Given the description of an element on the screen output the (x, y) to click on. 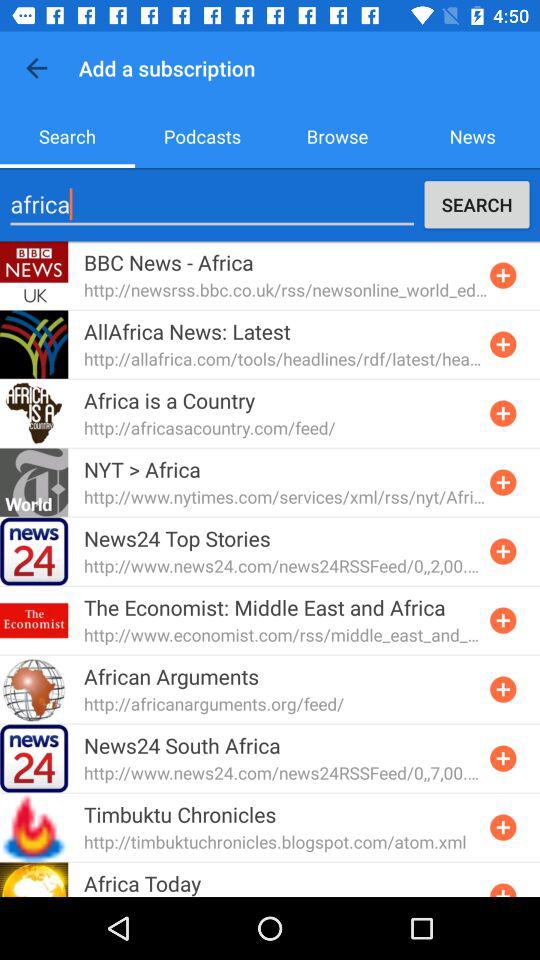
select podcasts (202, 136)
